Given the description of an element on the screen output the (x, y) to click on. 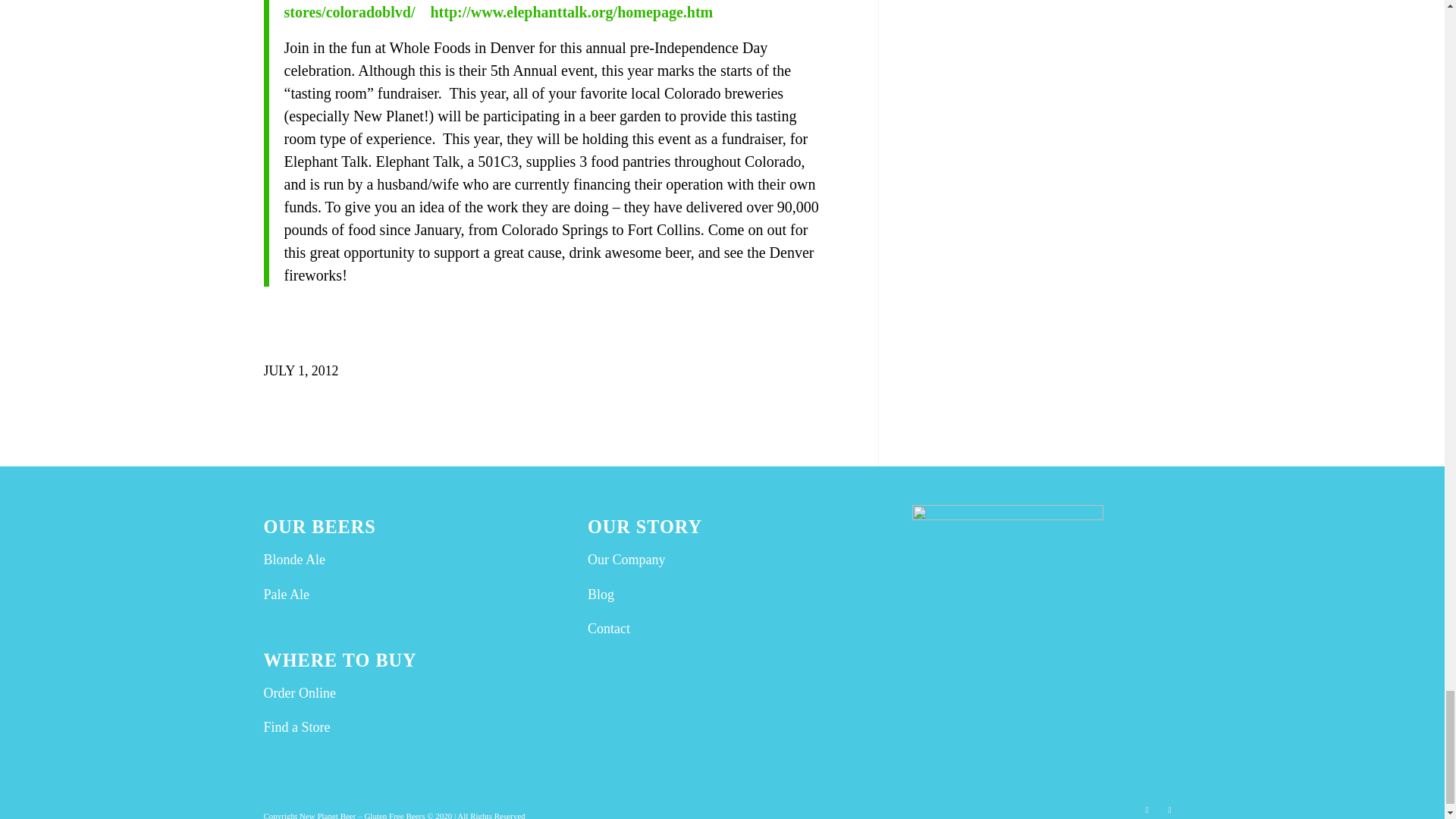
Facebook (1169, 808)
Instagram (1146, 808)
